Given the description of an element on the screen output the (x, y) to click on. 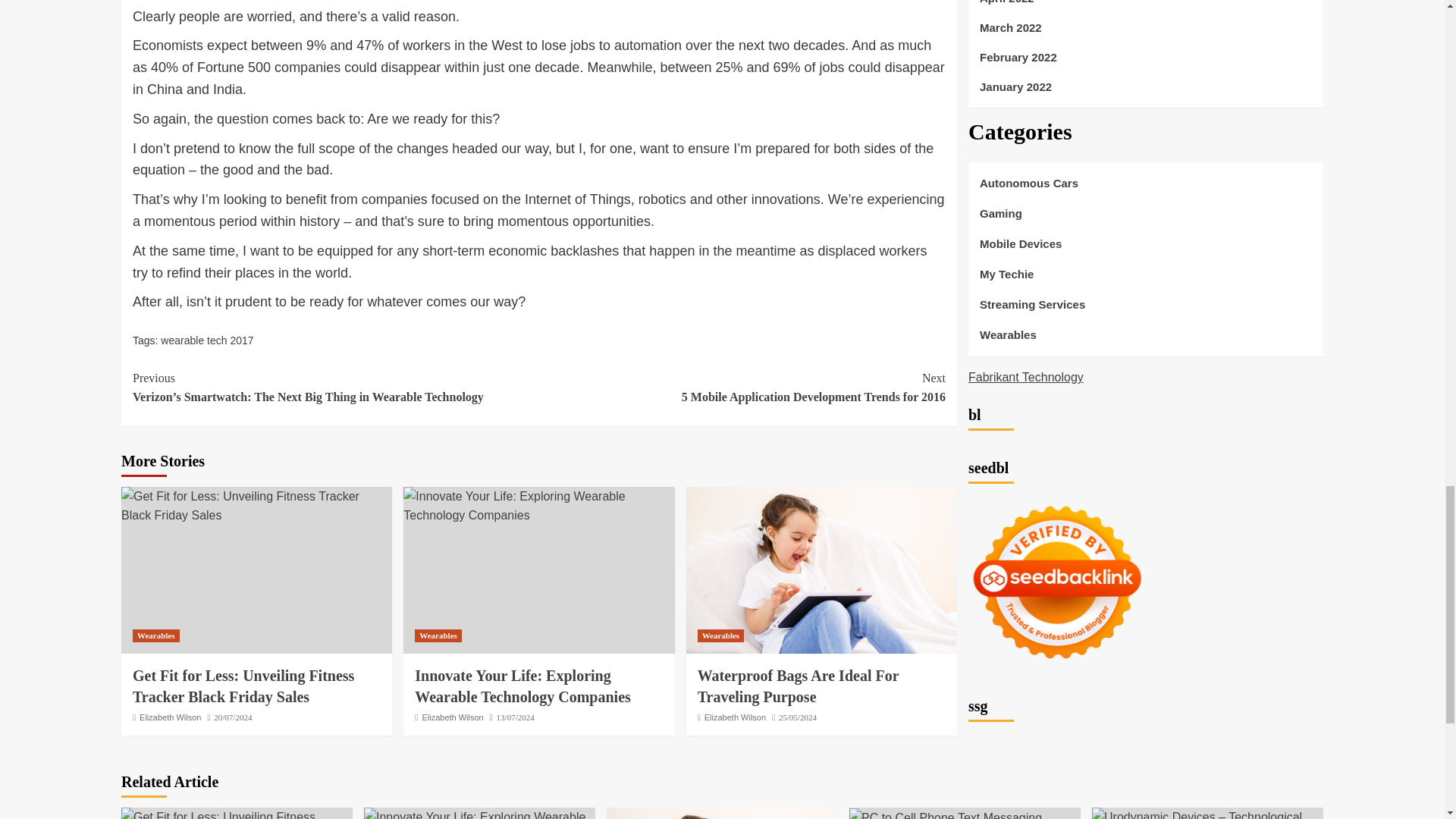
Innovate Your Life: Exploring Wearable Technology Companies (522, 686)
Waterproof Bags Are Ideal For Traveling Purpose (722, 813)
Waterproof Bags Are Ideal For Traveling Purpose (741, 387)
Wearables (820, 569)
Waterproof Bags Are Ideal For Traveling Purpose (720, 635)
Elizabeth Wilson (798, 686)
Innovate Your Life: Exploring Wearable Technology Companies (452, 716)
wearable tech 2017 (538, 505)
Elizabeth Wilson (206, 340)
Wearables (169, 716)
Wearables (437, 635)
